Given the description of an element on the screen output the (x, y) to click on. 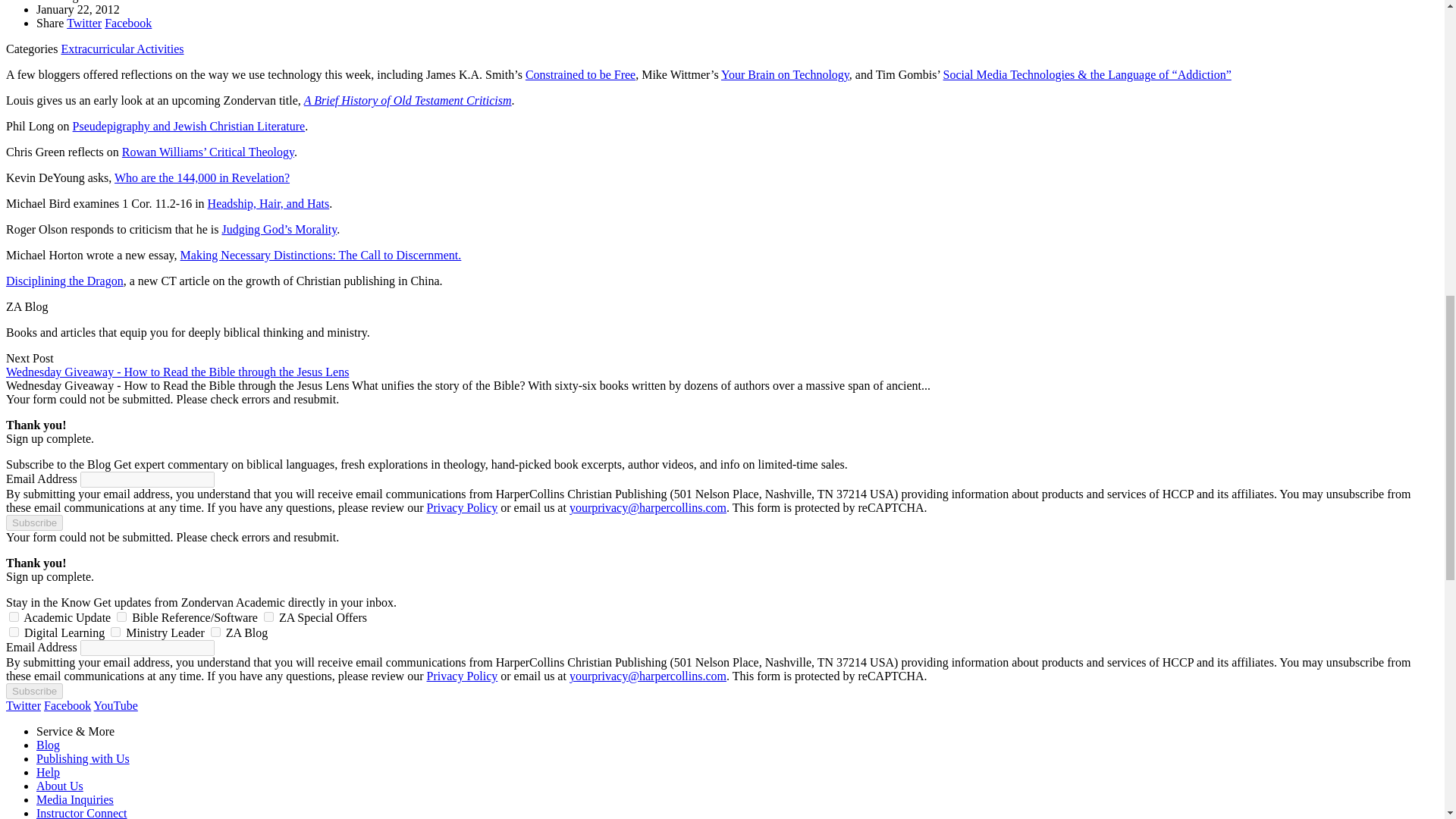
Subscribe (33, 691)
Yes (268, 616)
Yes (13, 616)
Yes (13, 632)
Yes (121, 616)
Yes (216, 632)
Yes (115, 632)
Subscribe (33, 522)
